Given the description of an element on the screen output the (x, y) to click on. 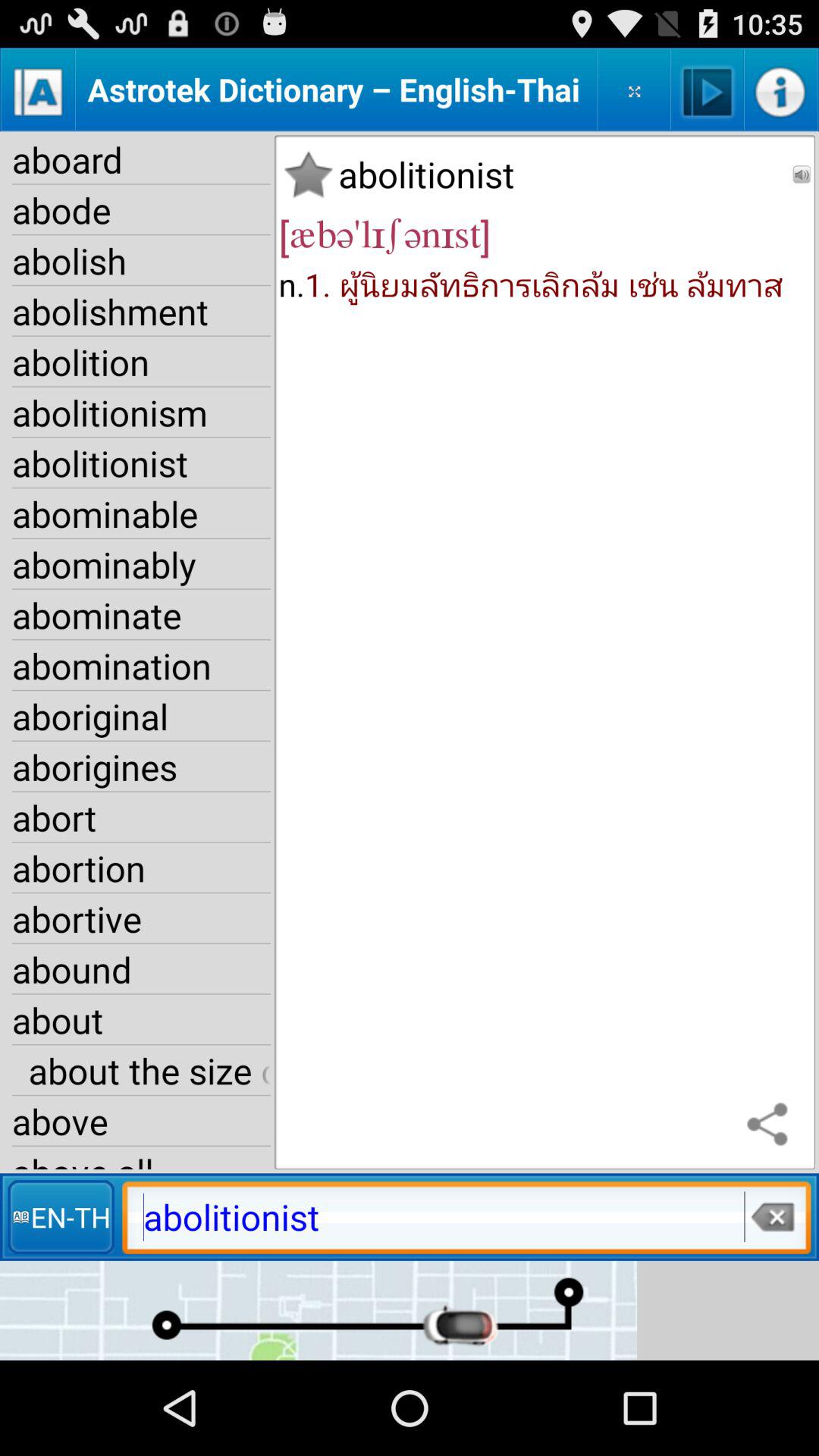
go to sound (801, 174)
